Given the description of an element on the screen output the (x, y) to click on. 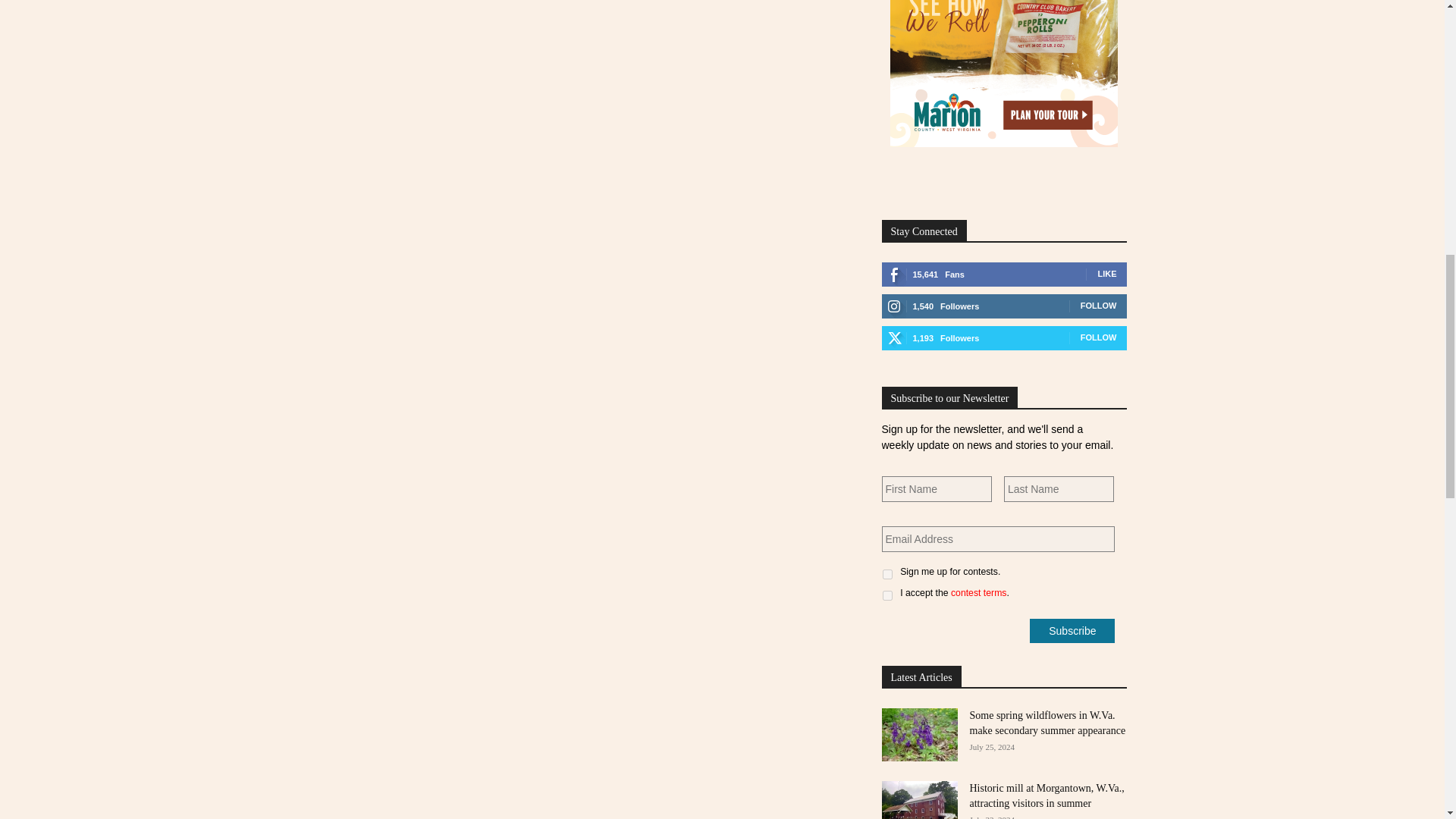
Subscribe (1072, 630)
I accept the contest terms. (887, 595)
Sign me up for contests. (887, 574)
